Given the description of an element on the screen output the (x, y) to click on. 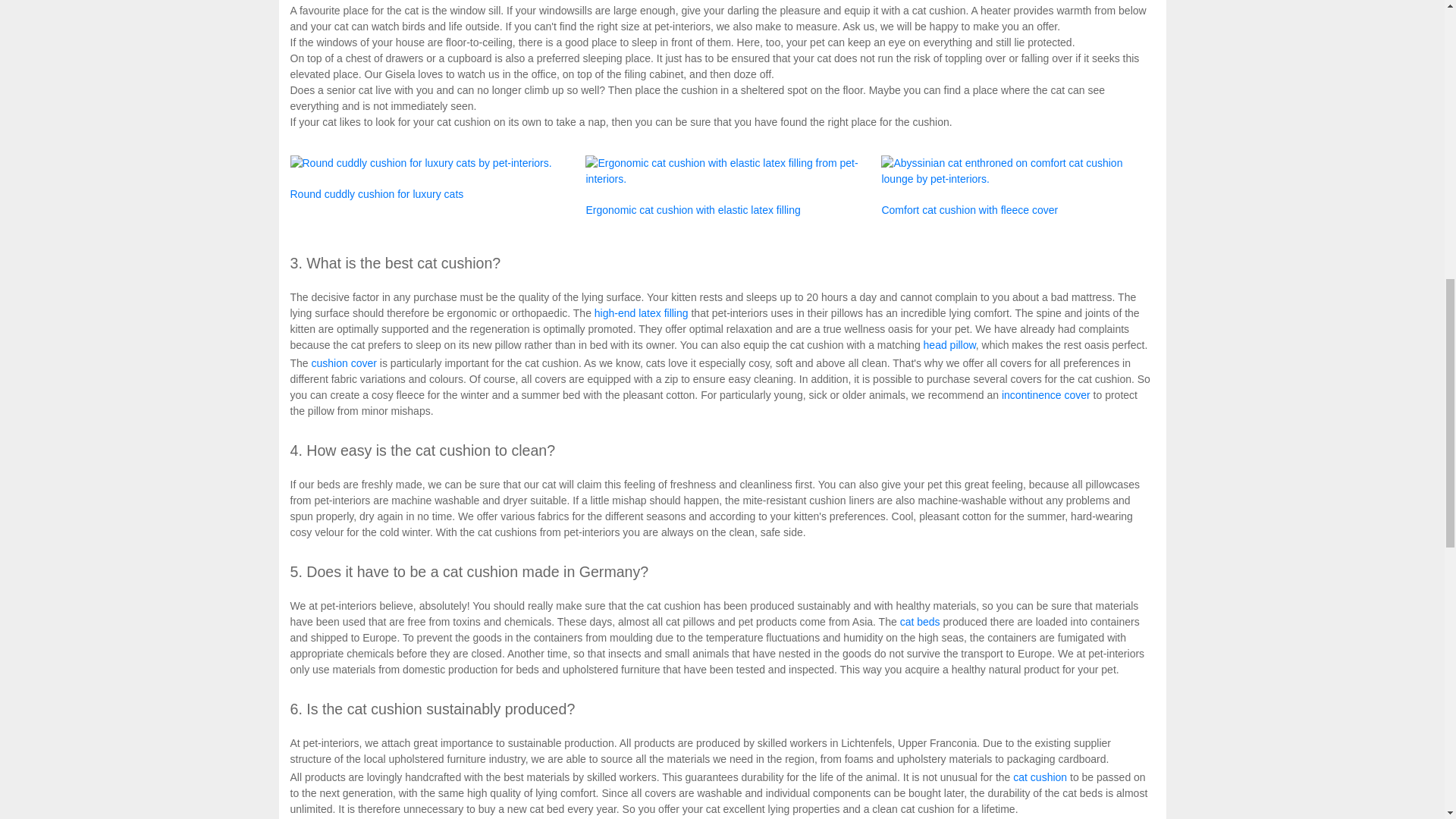
head pillow (949, 345)
incontinence cover (1045, 395)
cushion cover (344, 363)
cat bed (919, 621)
high-end latex filling (641, 313)
washable cat cushion to fall in love with from pet-interiors (425, 178)
cat beds (919, 621)
head pillow (949, 345)
Chamber cushion for cats from pet-interiors (1017, 203)
